Given the description of an element on the screen output the (x, y) to click on. 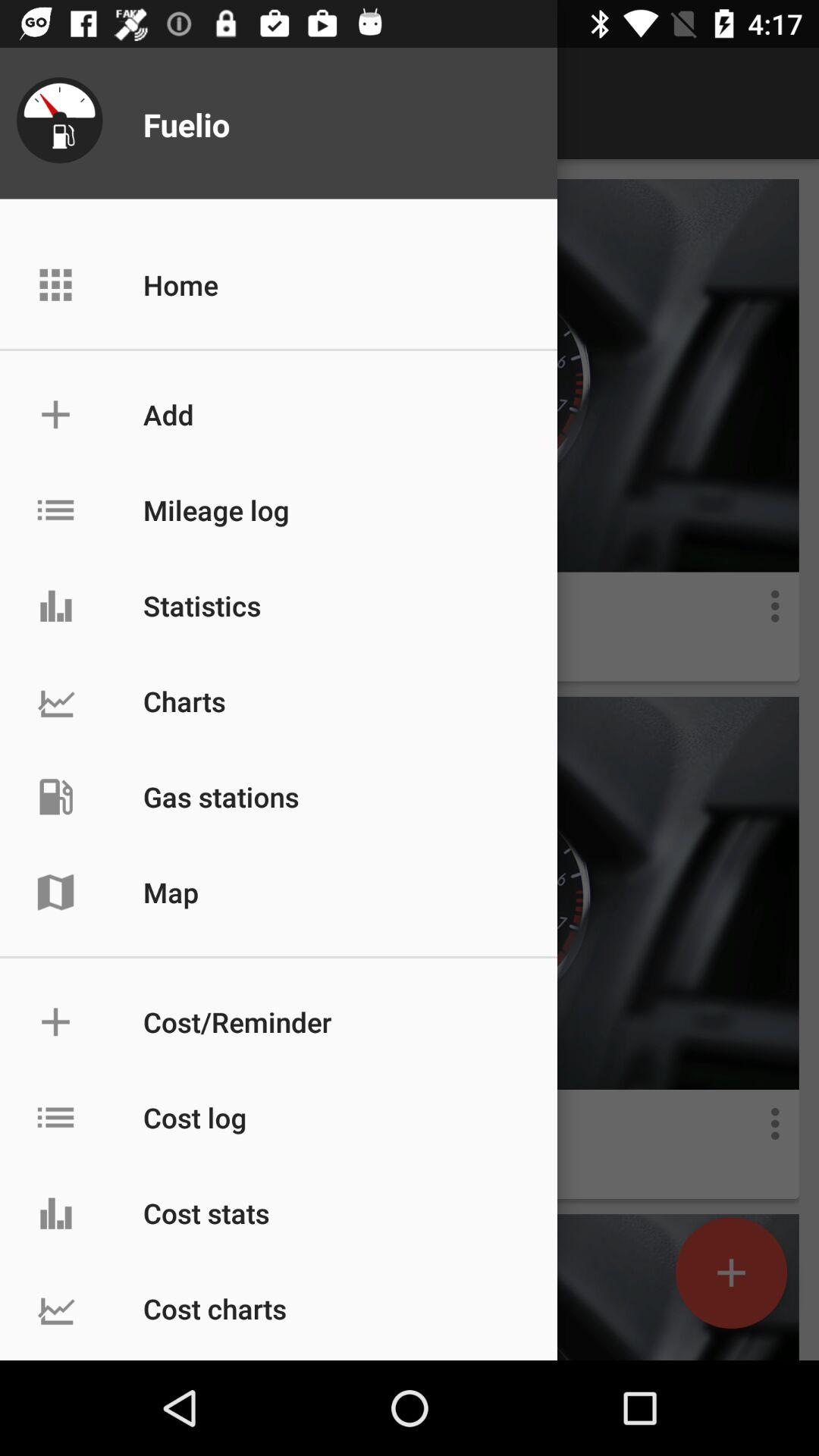
click on more button in second image (775, 1124)
